Given the description of an element on the screen output the (x, y) to click on. 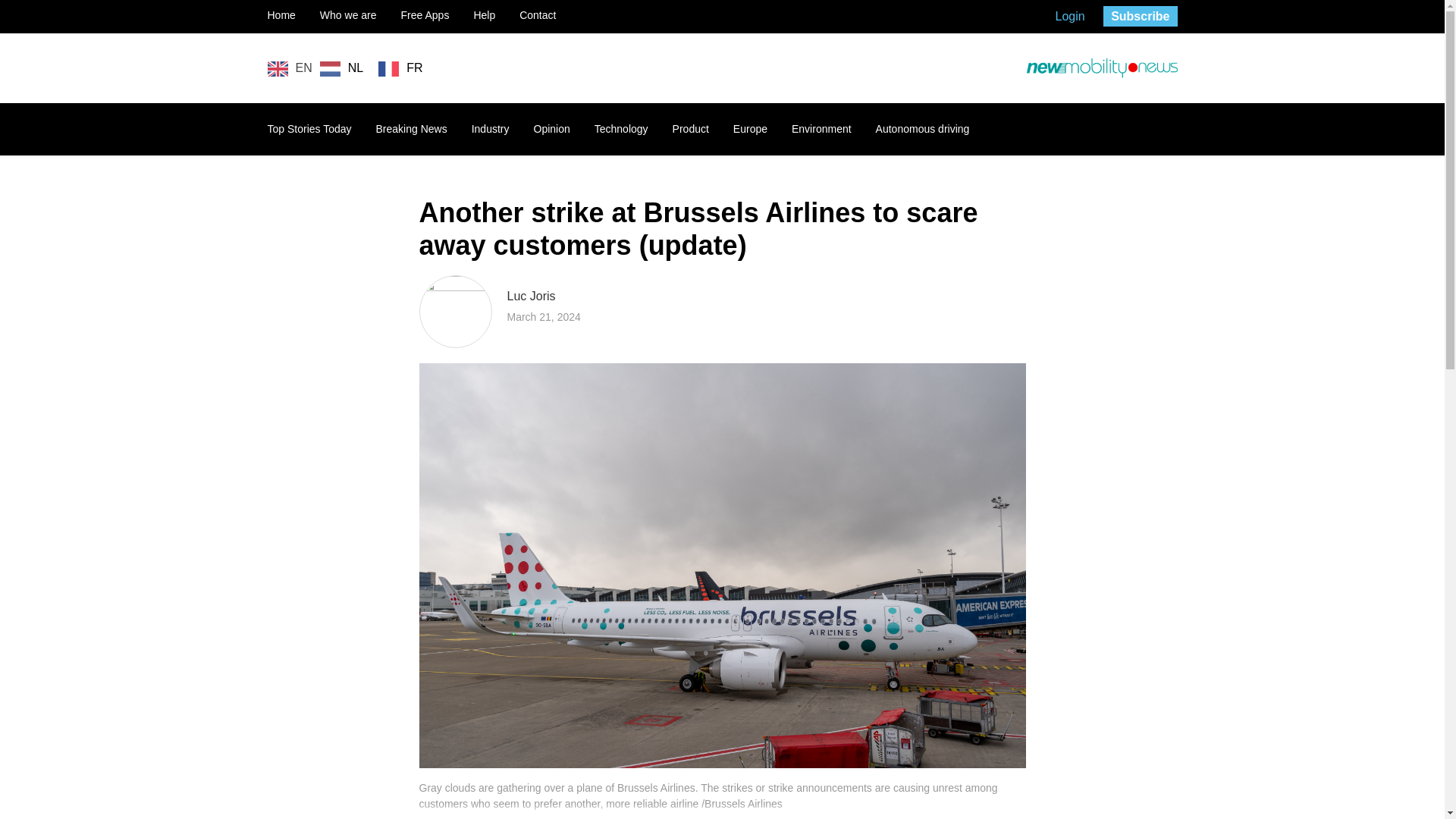
NL (342, 67)
Opinion (552, 129)
Who we are (348, 15)
Technology (620, 129)
Top Stories Today (308, 129)
Login (1069, 15)
newmobility.news (1100, 67)
Language switcher : French (400, 67)
Environment (821, 129)
Language switcher : Dutch (342, 67)
Europe (750, 129)
Product (690, 129)
Subscribe (1139, 15)
Free Apps (425, 15)
Industry (490, 129)
